Given the description of an element on the screen output the (x, y) to click on. 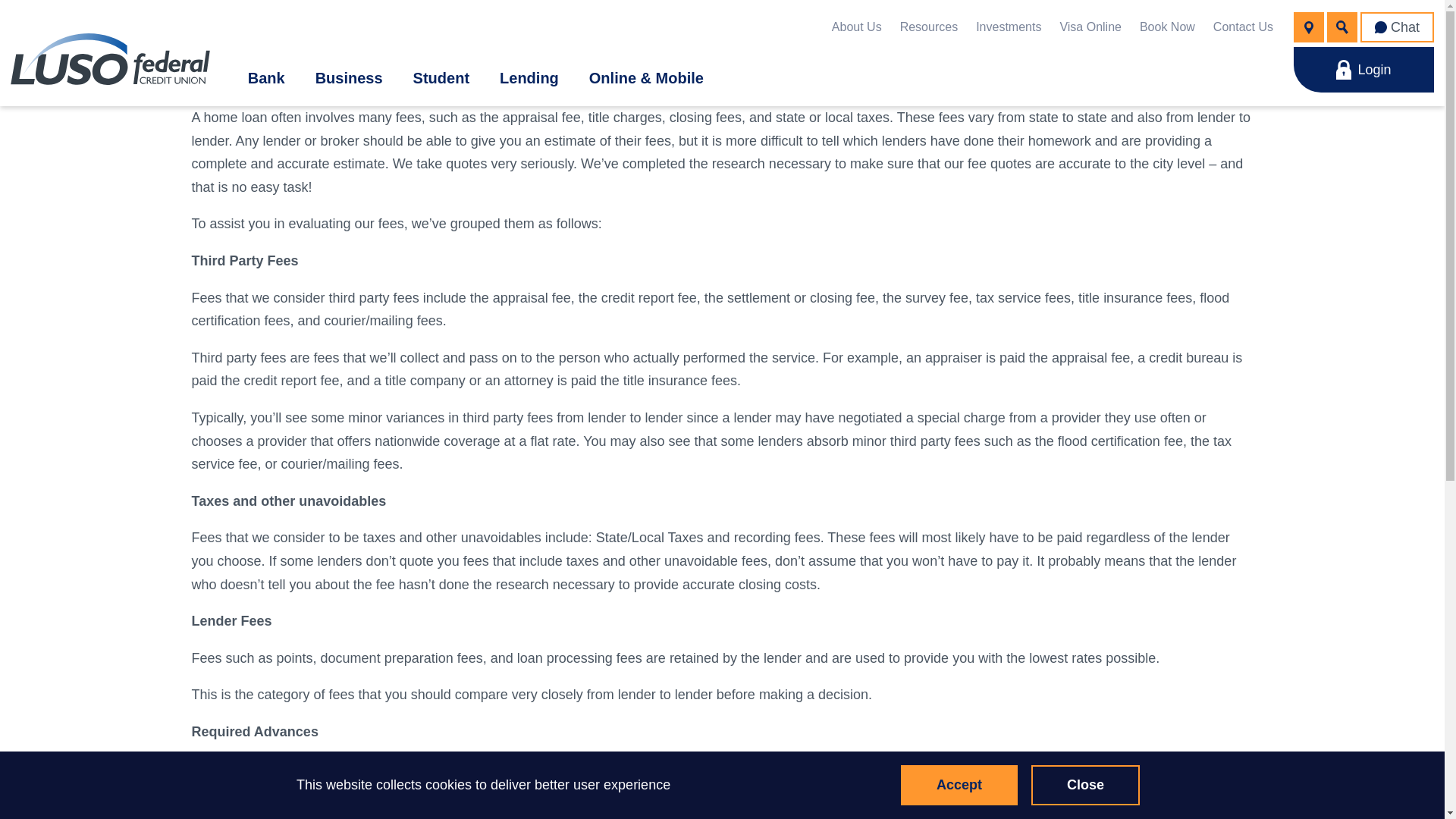
Contact Us (1242, 26)
Go Mobile (1256, 255)
locations (1308, 27)
Beneficial Ownership (644, 219)
Business Loans (317, 272)
Book Now (1167, 26)
Credit Sense (648, 370)
Bank (266, 77)
Credit Cards (603, 166)
Chat (1396, 27)
